Given the description of an element on the screen output the (x, y) to click on. 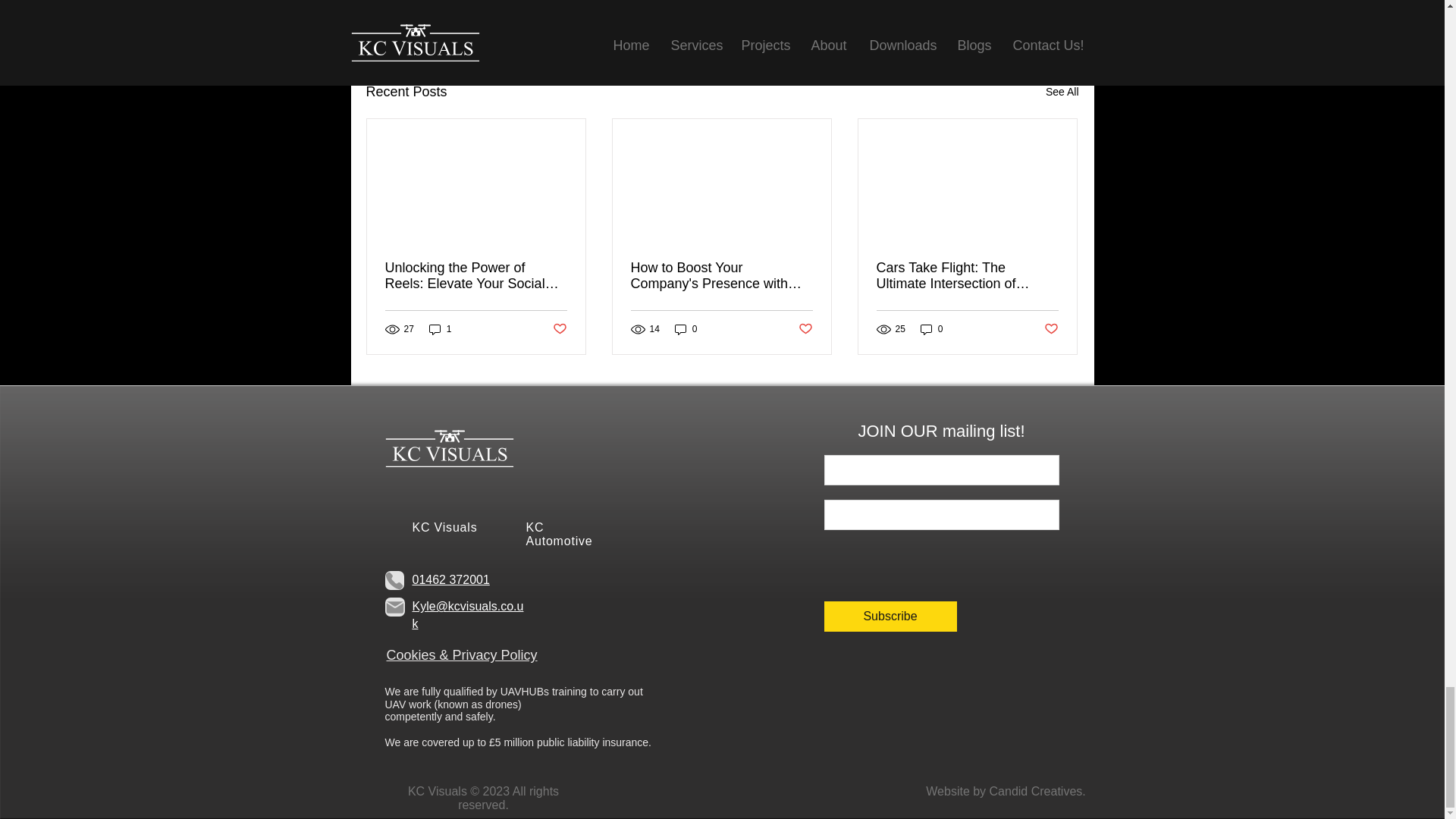
Post not marked as liked (804, 329)
Post not marked as liked (1050, 329)
See All (1061, 92)
Post not marked as liked (558, 329)
0 (931, 329)
1 (440, 329)
0 (685, 329)
